Given the description of an element on the screen output the (x, y) to click on. 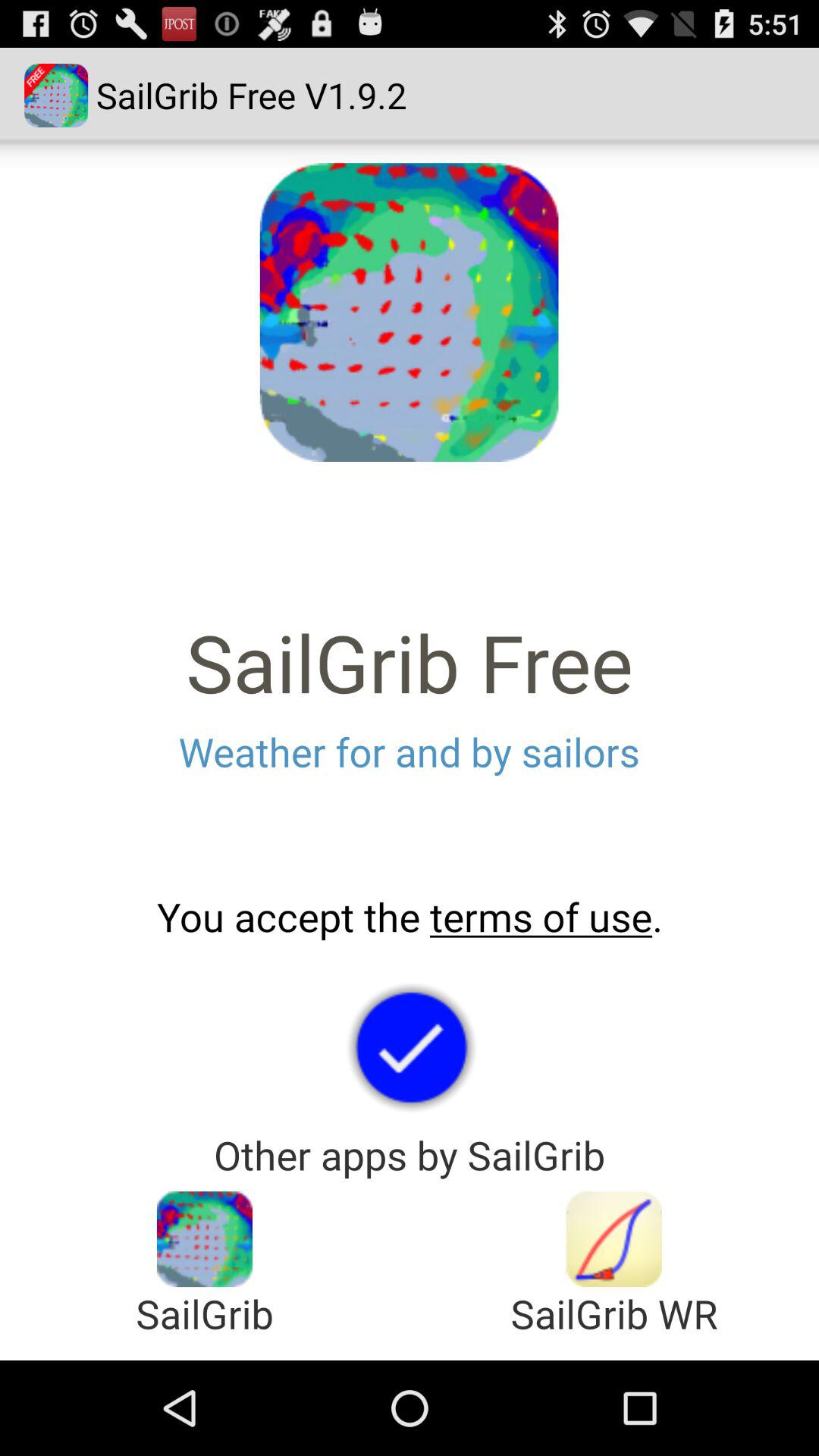
open sailgrib (204, 1239)
